Given the description of an element on the screen output the (x, y) to click on. 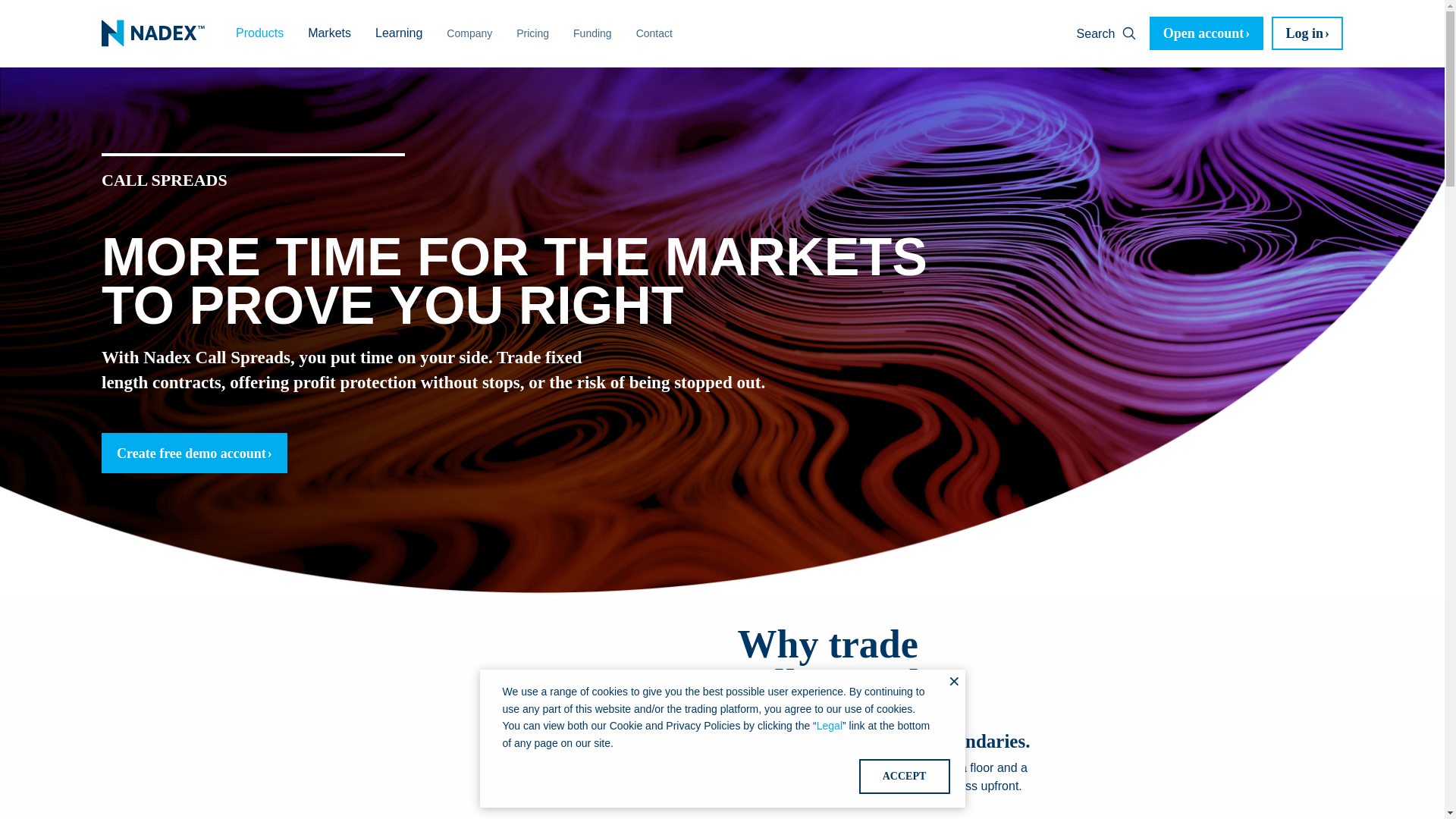
Company (468, 32)
Markets (328, 32)
Search (1107, 32)
Contact (654, 32)
Learning (397, 32)
Products (259, 32)
Funding (592, 32)
Open account (1206, 32)
Pricing (531, 32)
